Given the description of an element on the screen output the (x, y) to click on. 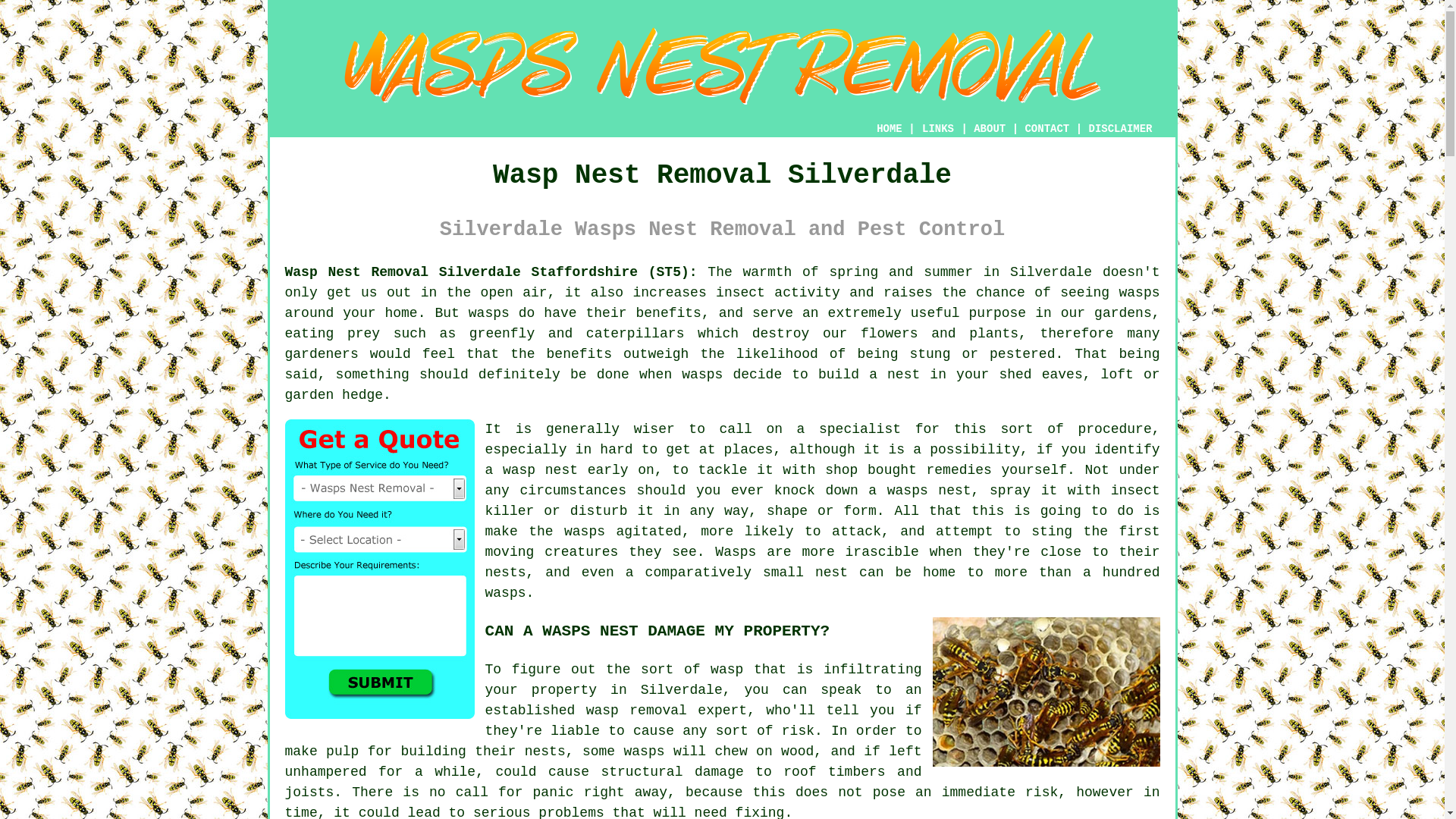
Wasps Nest Removal Silverdale (721, 66)
wasps (1138, 292)
wasp nest (540, 469)
a nest (894, 374)
HOME (889, 128)
wasp removal (636, 710)
LINKS (938, 128)
